Given the description of an element on the screen output the (x, y) to click on. 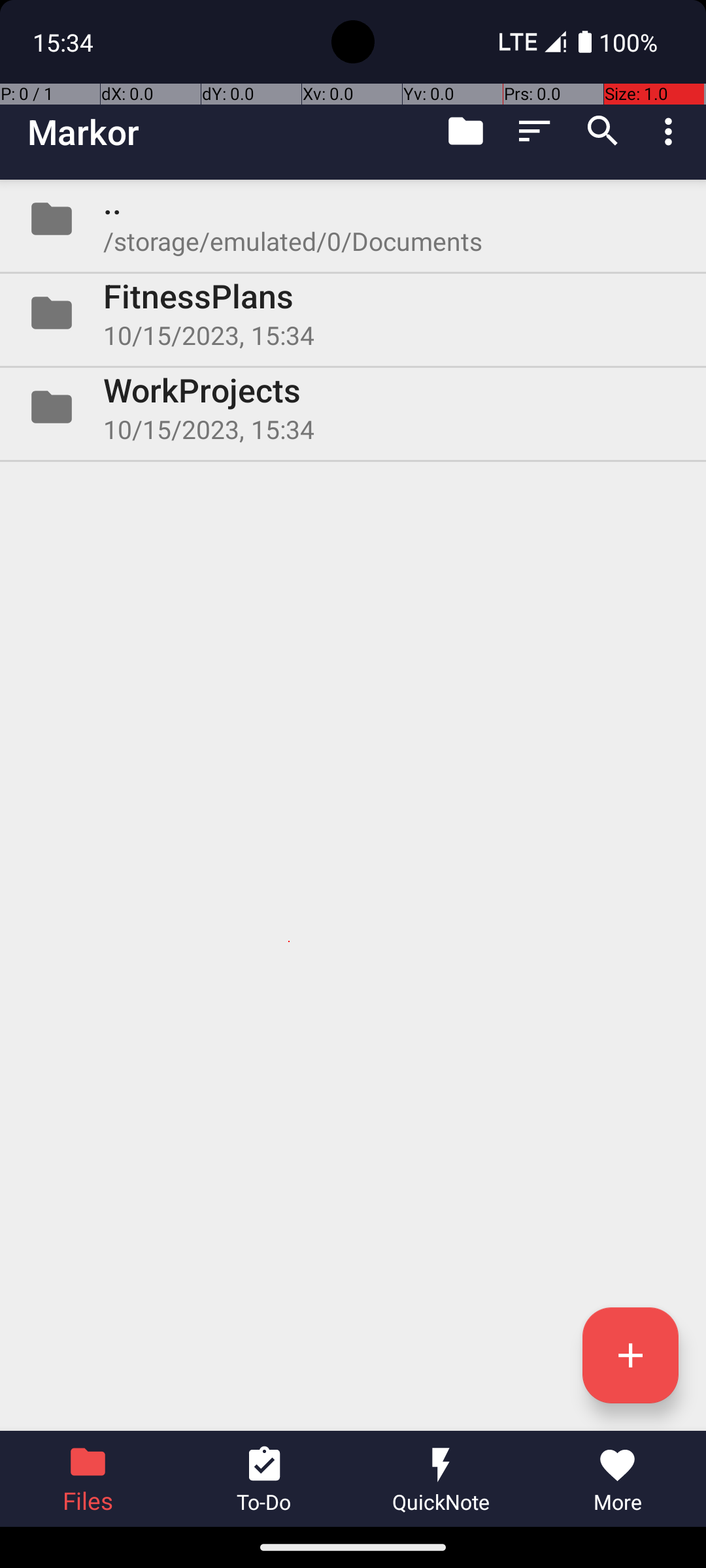
Folder FitnessPlans  Element type: android.widget.LinearLayout (353, 312)
Folder WorkProjects  Element type: android.widget.LinearLayout (353, 406)
